Given the description of an element on the screen output the (x, y) to click on. 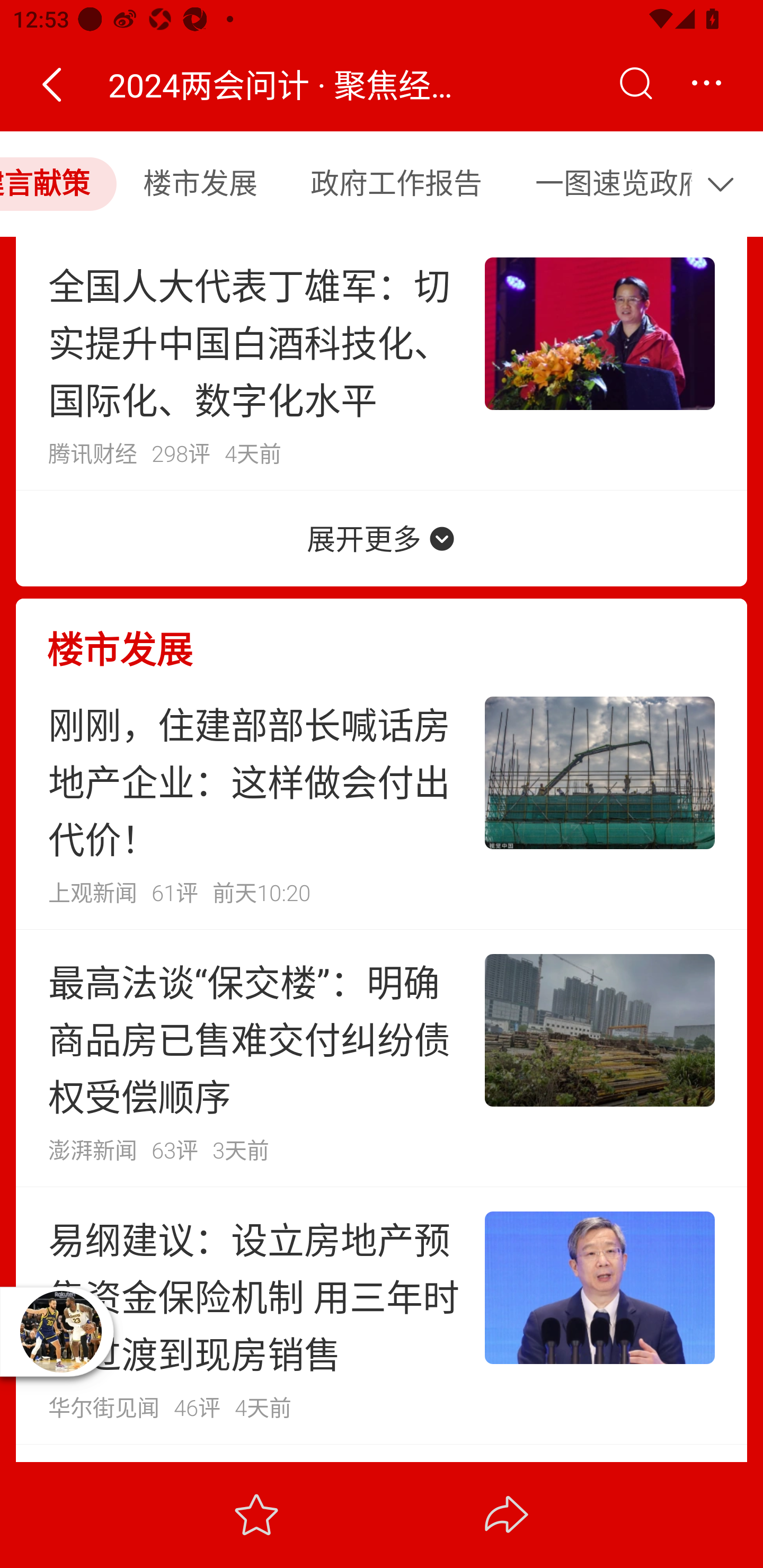
 (50, 83)
 (634, 83)
 (705, 83)
楼市发展 (199, 183)
政府工作报告 (395, 183)
一图速览政府工作报告 (601, 183)
 (724, 183)
全国人大代表丁雄军：切实提升中国白酒科技化、国际化、数字化水平 腾讯财经 298评 4天前 (381, 362)
展开更多  (381, 538)
楼市发展 (381, 635)
刚刚，住建部部长喊话房地产企业：这样做会付出代价！ 上观新闻 61评 前天10:20 (381, 800)
最高法谈“保交楼”：明确商品房已售难交付纠纷债权受偿顺序 澎湃新闻 63评 3天前 (381, 1057)
易纲建议：设立房地产预售资金保险机制 用三年时间过渡到现房销售 华尔街见闻 46评 4天前 (381, 1315)
播放器 (60, 1331)
收藏  (255, 1514)
分享  (506, 1514)
